Given the description of an element on the screen output the (x, y) to click on. 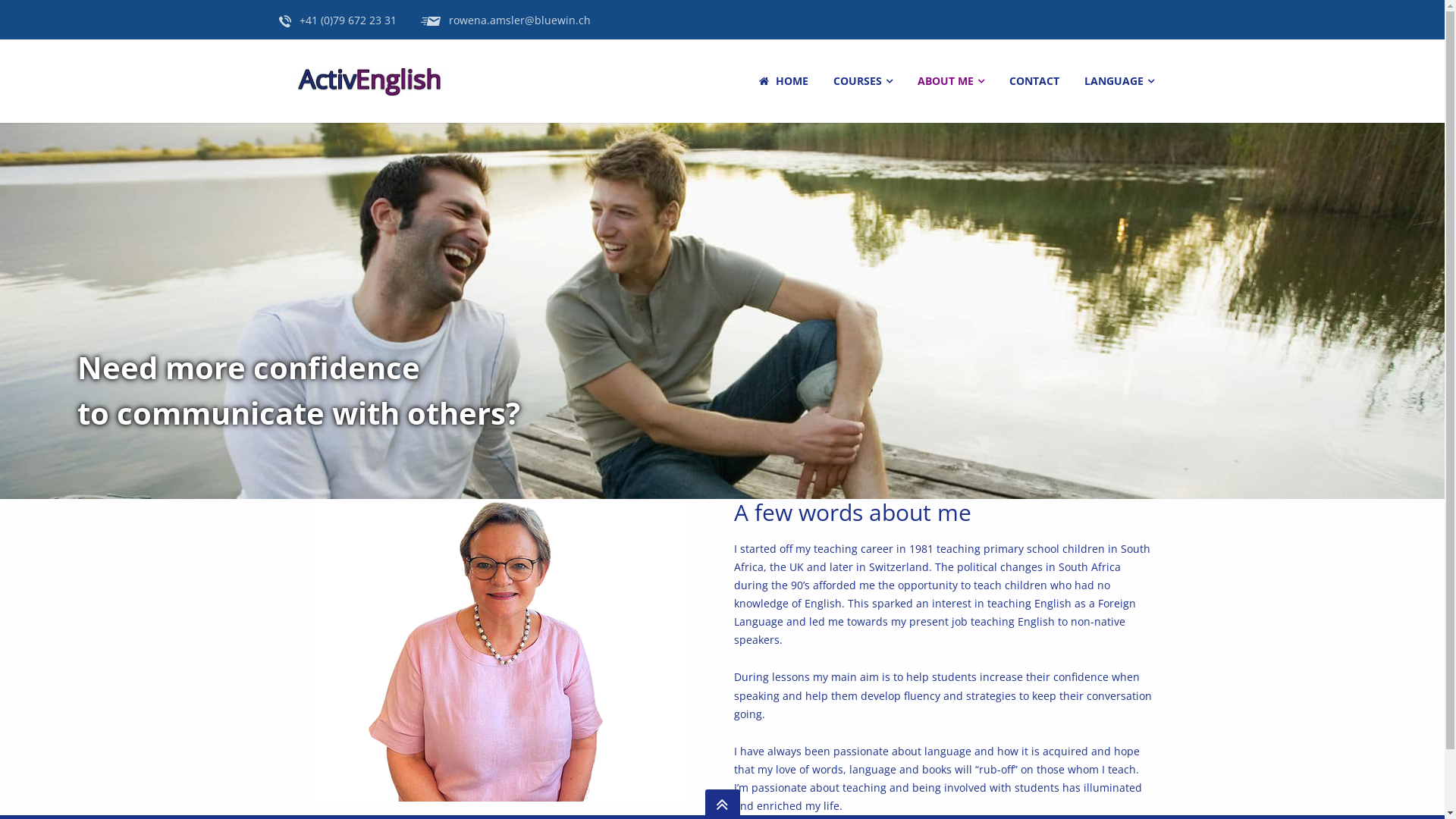
CONTACT Element type: text (1033, 80)
LANGUAGE Element type: text (1117, 80)
COURSES Element type: text (862, 80)
Logo Element type: hover (367, 81)
ABOUT ME Element type: text (949, 80)
HOME Element type: text (783, 80)
